Given the description of an element on the screen output the (x, y) to click on. 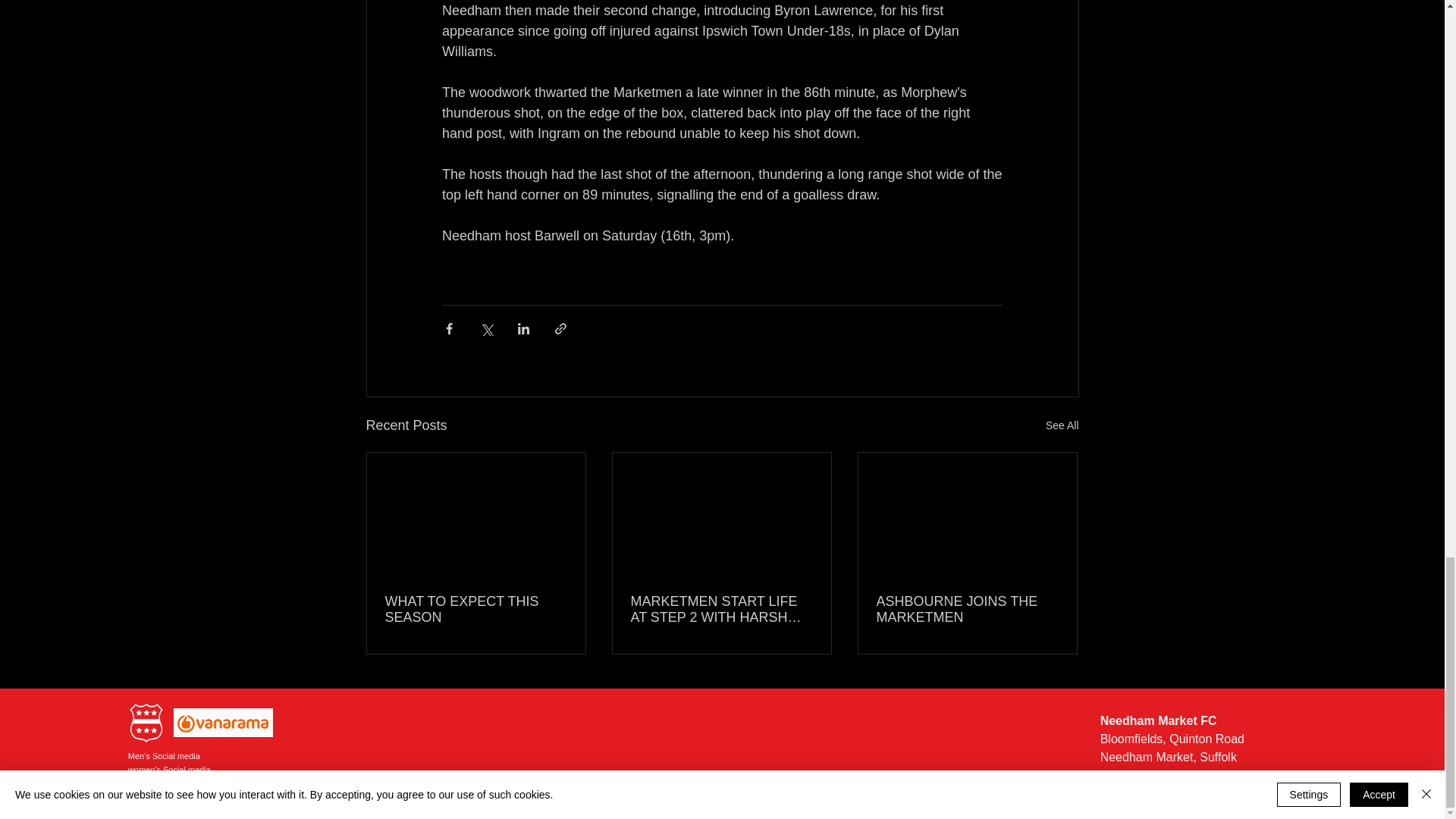
WHAT TO EXPECT THIS SEASON (476, 609)
ASHBOURNE JOINS THE MARKETMEN (967, 609)
See All (1061, 425)
Men's Social media (164, 755)
MARKETMEN START LIFE AT STEP 2 WITH HARSH DEFEAT (721, 609)
